Given the description of an element on the screen output the (x, y) to click on. 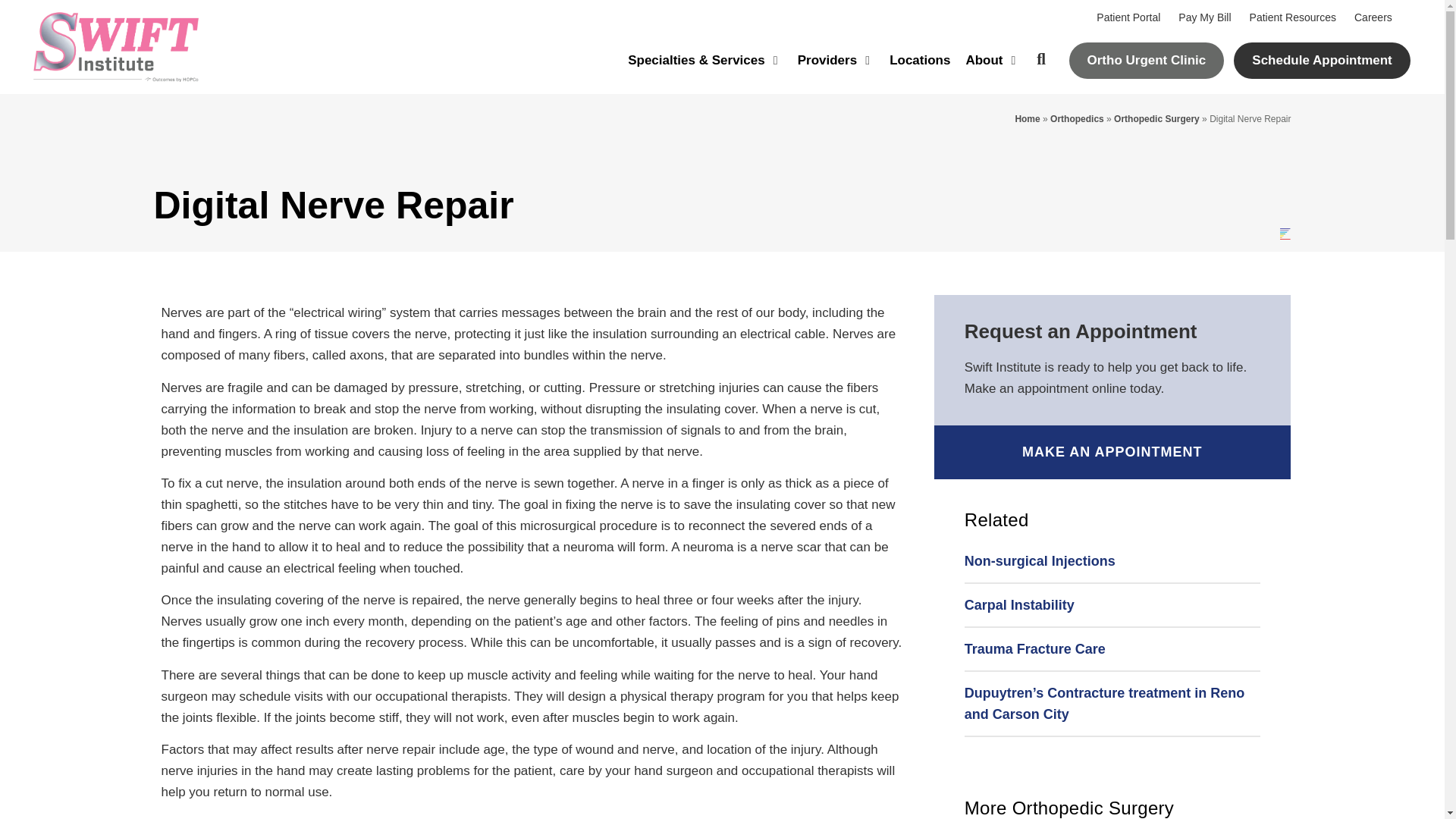
Pay My Bill (1203, 17)
Patient Resources (1292, 17)
Patient Portal (1128, 17)
Careers (1372, 17)
